Given the description of an element on the screen output the (x, y) to click on. 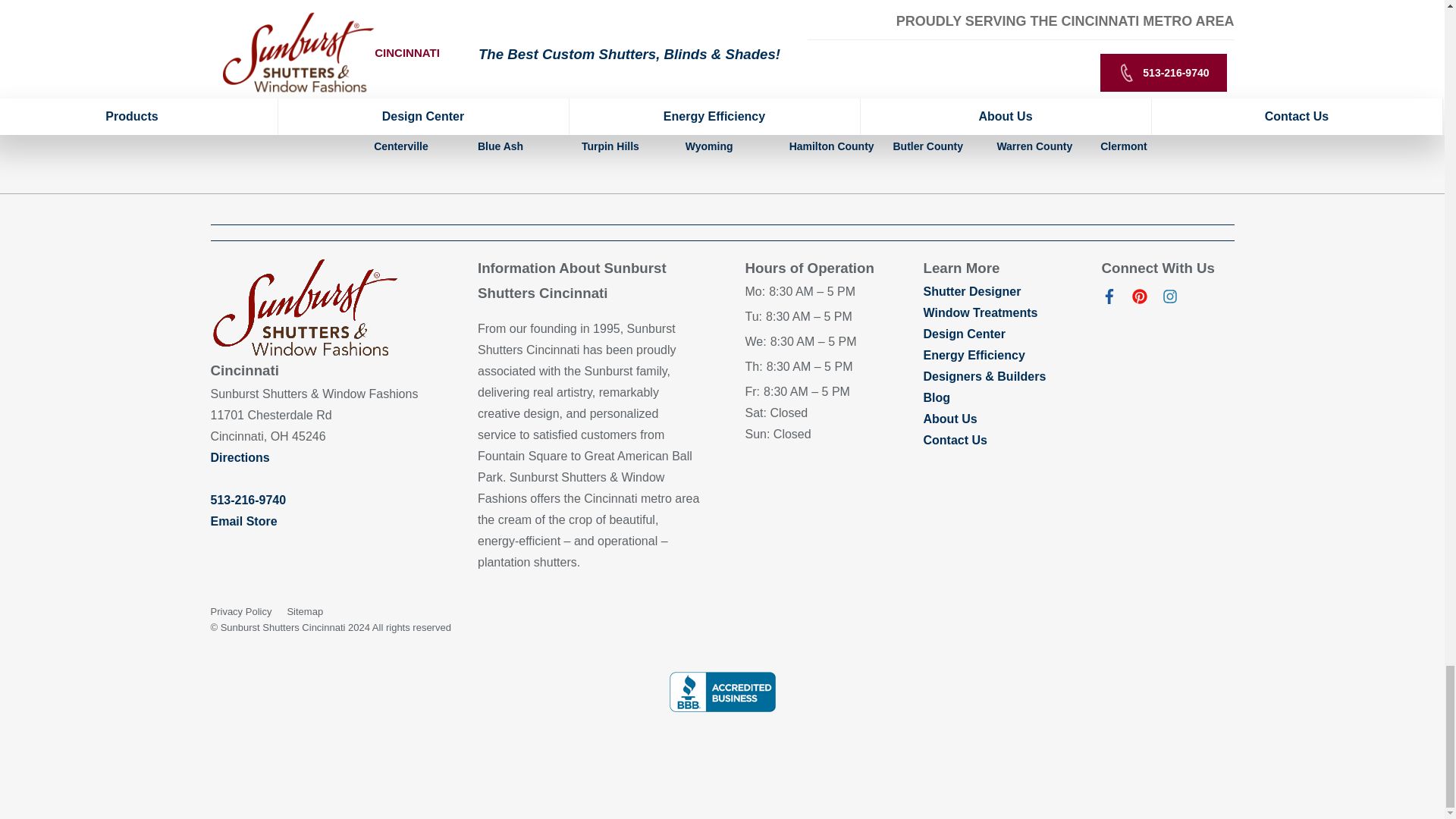
BBB Accredited Business (721, 691)
Follow us on Instagram (1168, 299)
Like us on Facebook (1108, 299)
Follow us on Pinterest (1139, 299)
